Given the description of an element on the screen output the (x, y) to click on. 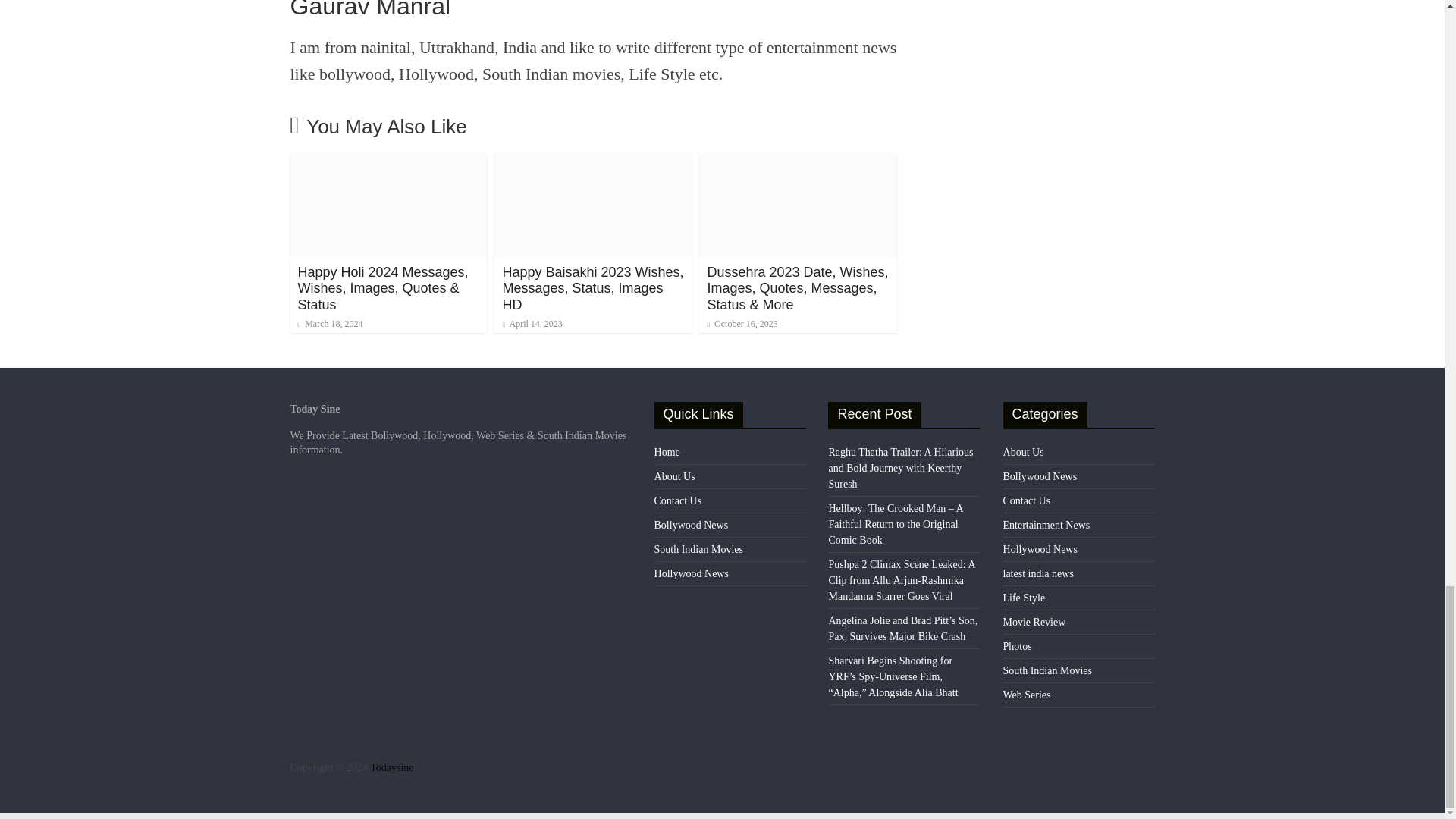
April 14, 2023 (532, 323)
Happy Baisakhi 2023 Wishes, Messages, Status, Images HD (592, 288)
October 16, 2023 (741, 323)
8:07 am (532, 323)
March 18, 2024 (329, 323)
Happy Baisakhi 2023 Wishes, Messages, Status, Images HD (592, 288)
Happy Baisakhi 2023 Wishes, Messages, Status, Images HD (593, 162)
8:52 pm (329, 323)
